Given the description of an element on the screen output the (x, y) to click on. 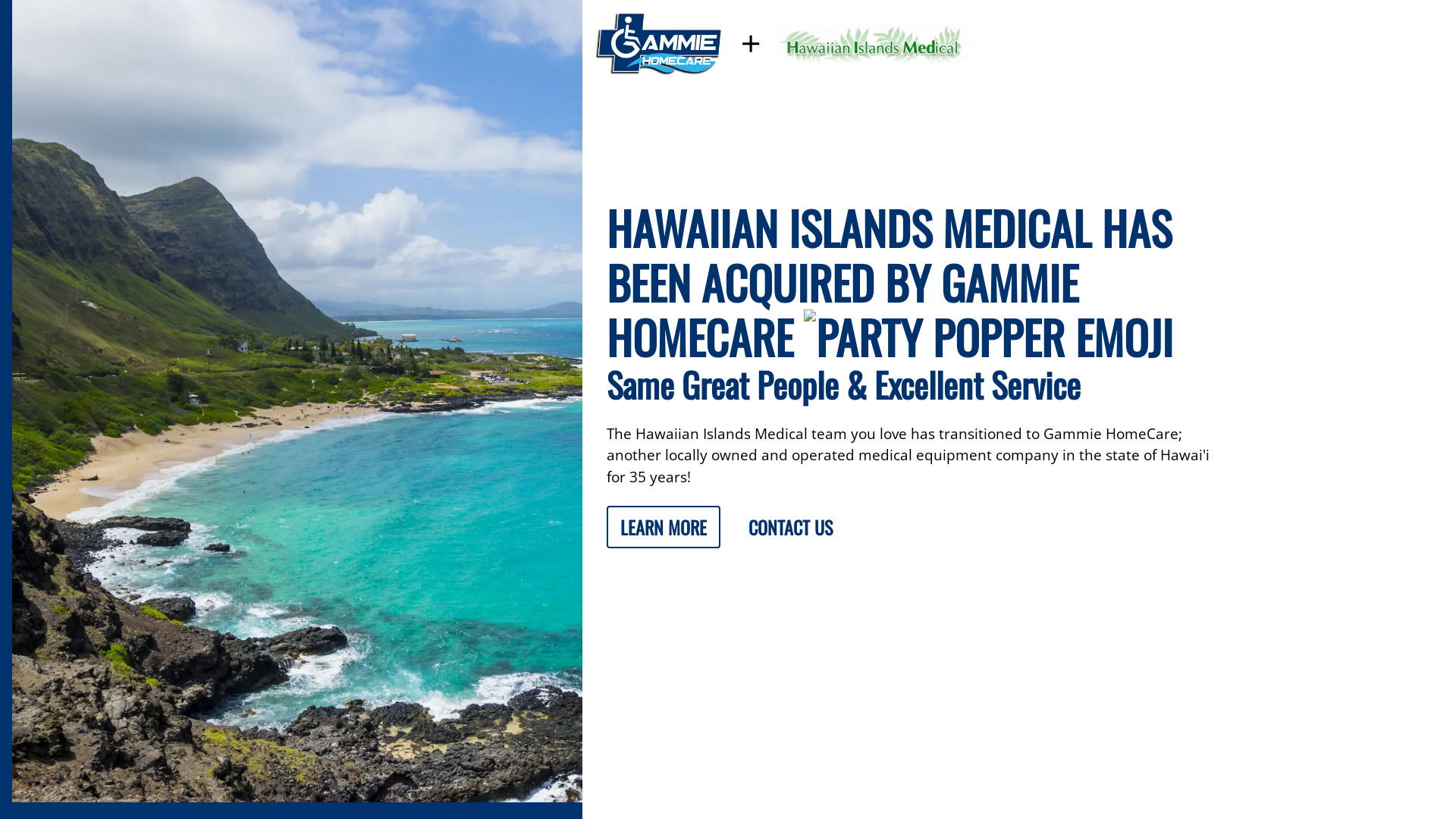
LEARN MORE Element type: text (663, 526)
CONTACT US Element type: text (790, 526)
